Given the description of an element on the screen output the (x, y) to click on. 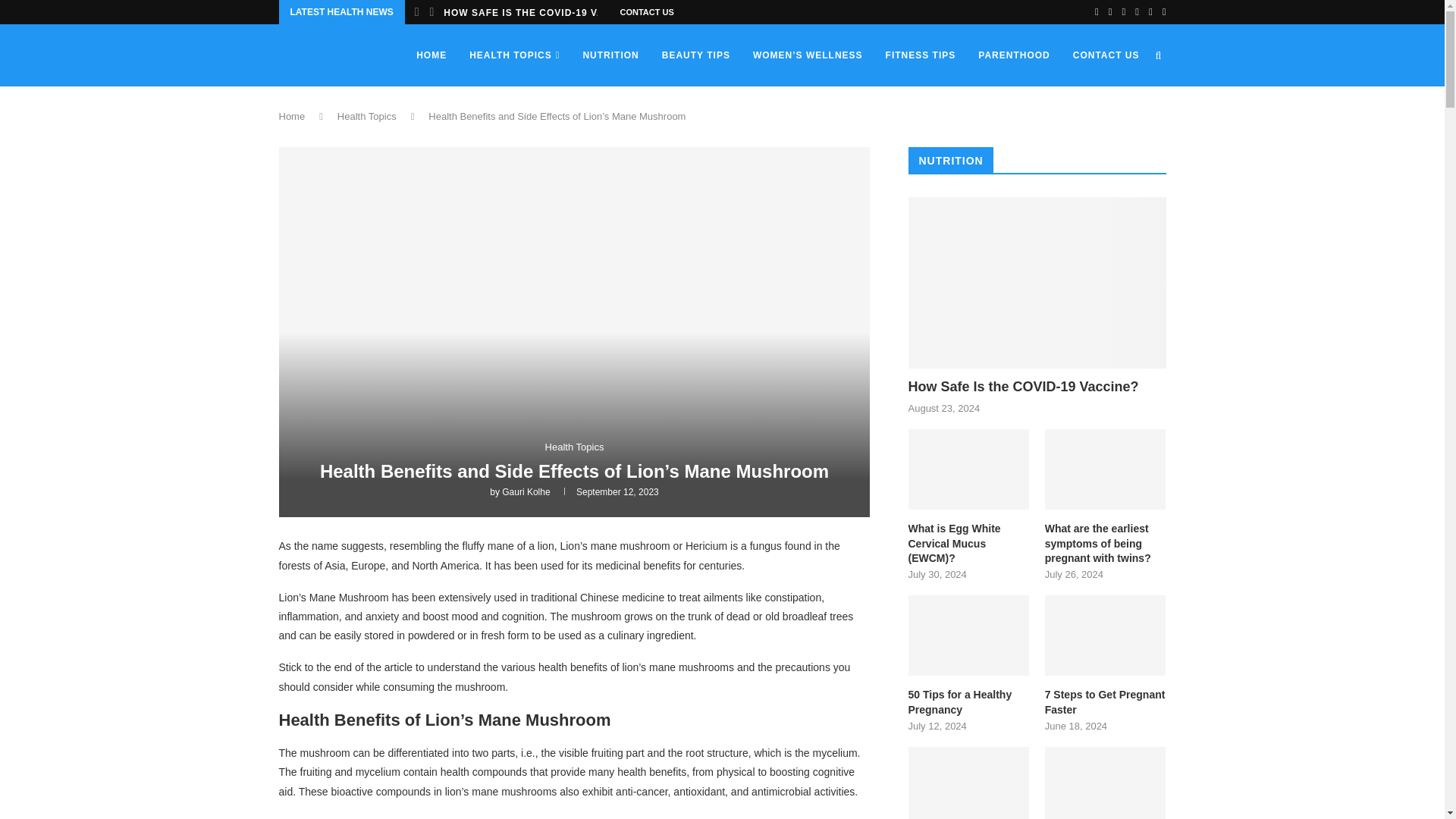
How Safe Is the COVID-19 Vaccine? (1037, 386)
CONTACT US (647, 12)
What are the earliest symptoms of being pregnant with twins? (1105, 543)
HOW SAFE IS THE COVID-19 VACCINE? (543, 12)
What are the earliest symptoms of being pregnant with twins? (1105, 469)
How Safe Is the COVID-19 Vaccine? (1037, 283)
